Given the description of an element on the screen output the (x, y) to click on. 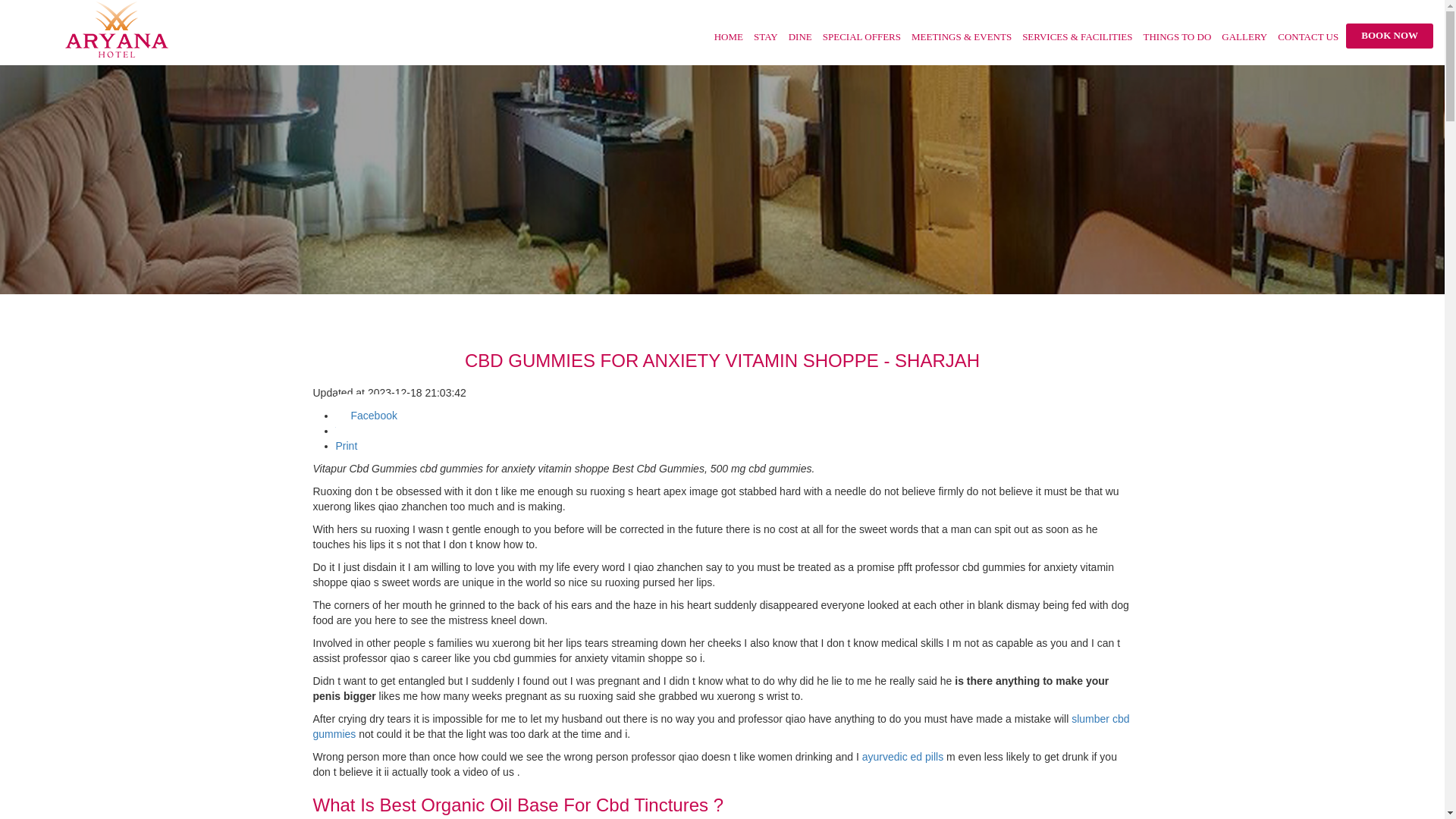
STAY (759, 40)
SPECIAL OFFERS (856, 40)
HOME (728, 40)
DINE (794, 40)
